Given the description of an element on the screen output the (x, y) to click on. 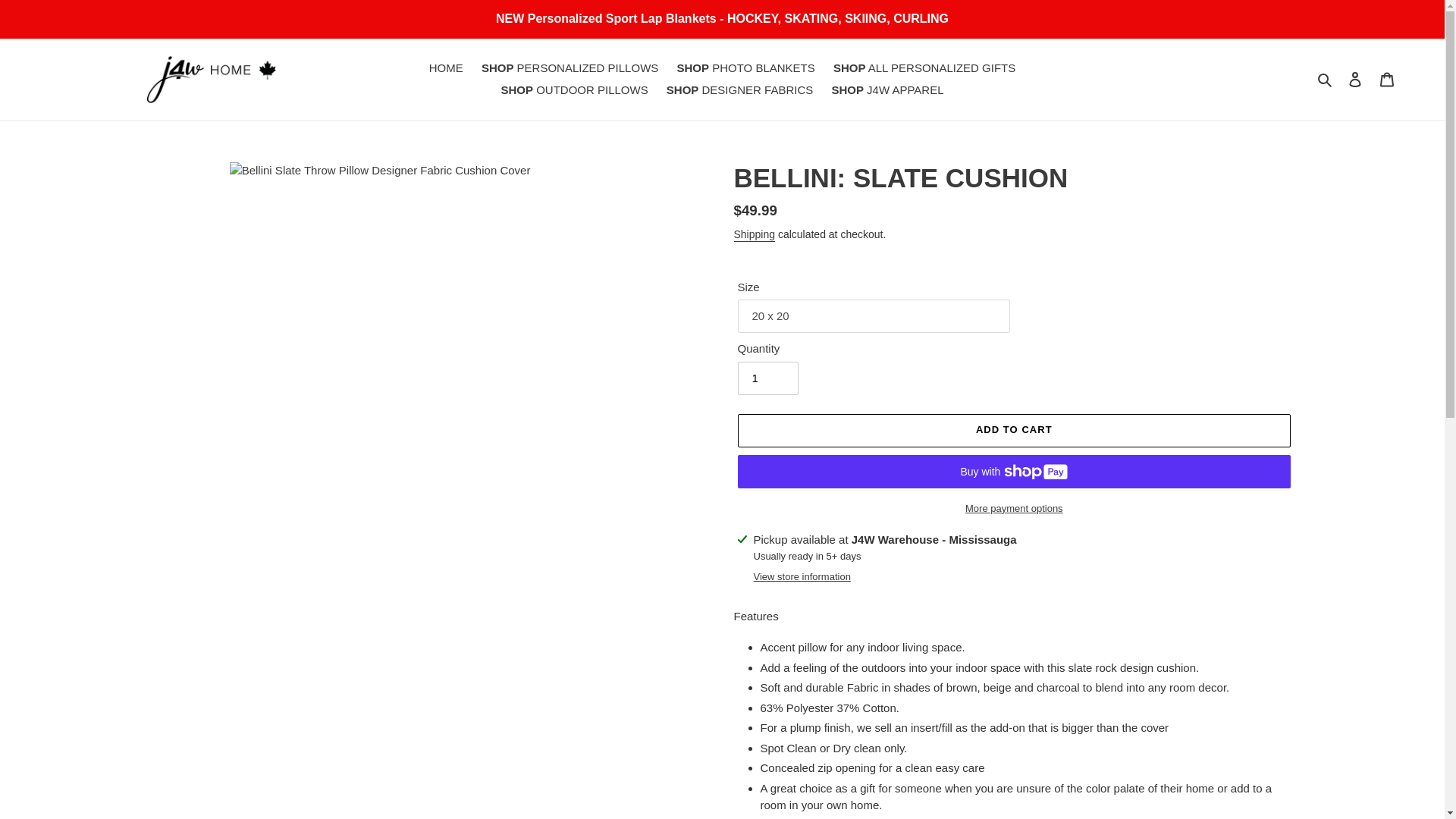
ADD TO CART (1013, 430)
More payment options (1013, 508)
SHOP ALL PERSONALIZED GIFTS (924, 68)
SHOP DESIGNER FABRICS (740, 89)
HOME (446, 68)
SHOP PERSONALIZED PILLOWS (569, 68)
Cart (1387, 79)
Shipping (754, 234)
View store information (802, 576)
Search (1326, 78)
SHOP PHOTO BLANKETS (745, 68)
1 (766, 377)
SHOP OUTDOOR PILLOWS (574, 89)
SHOP J4W APPAREL (887, 89)
Log in (1355, 79)
